Given the description of an element on the screen output the (x, y) to click on. 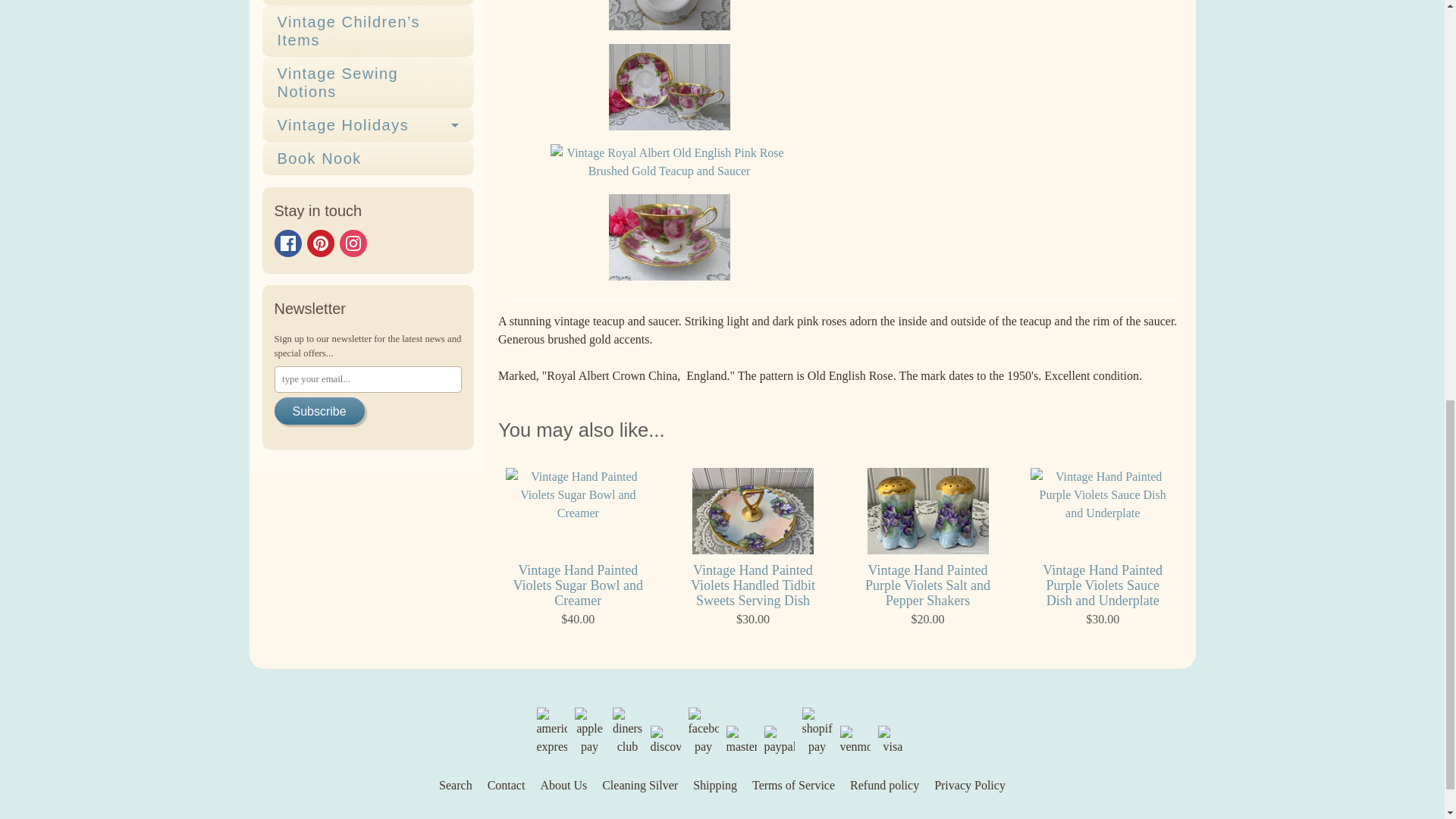
Instagram (352, 243)
Vintage Hand Painted Violets Sugar Bowl and Creamer (577, 548)
Vintage Hand Painted Purple Violets Salt and Pepper Shakers (927, 548)
Facebook (288, 243)
Pinterest (319, 243)
